Given the description of an element on the screen output the (x, y) to click on. 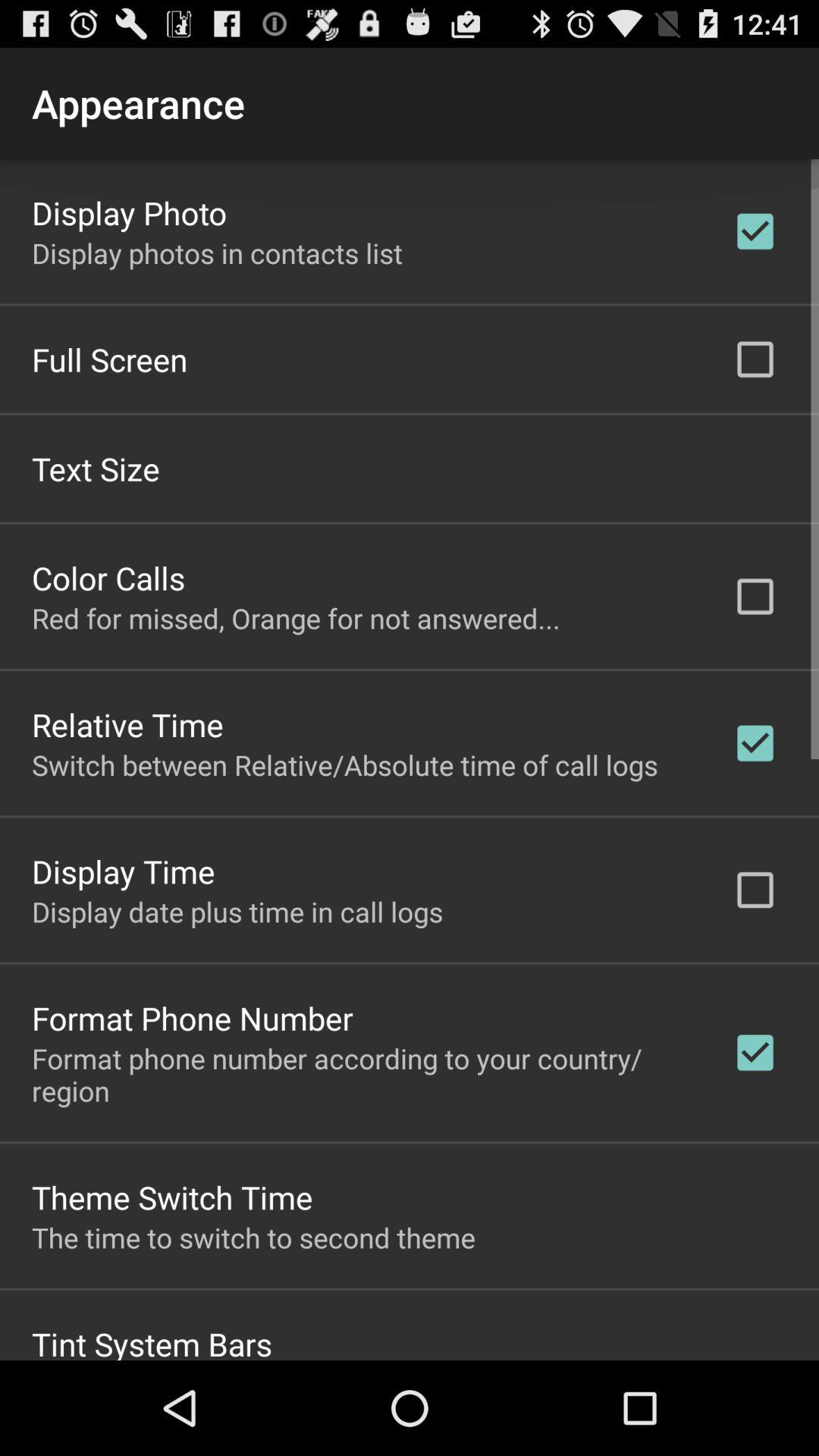
launch the item above tint system bars app (253, 1236)
